Given the description of an element on the screen output the (x, y) to click on. 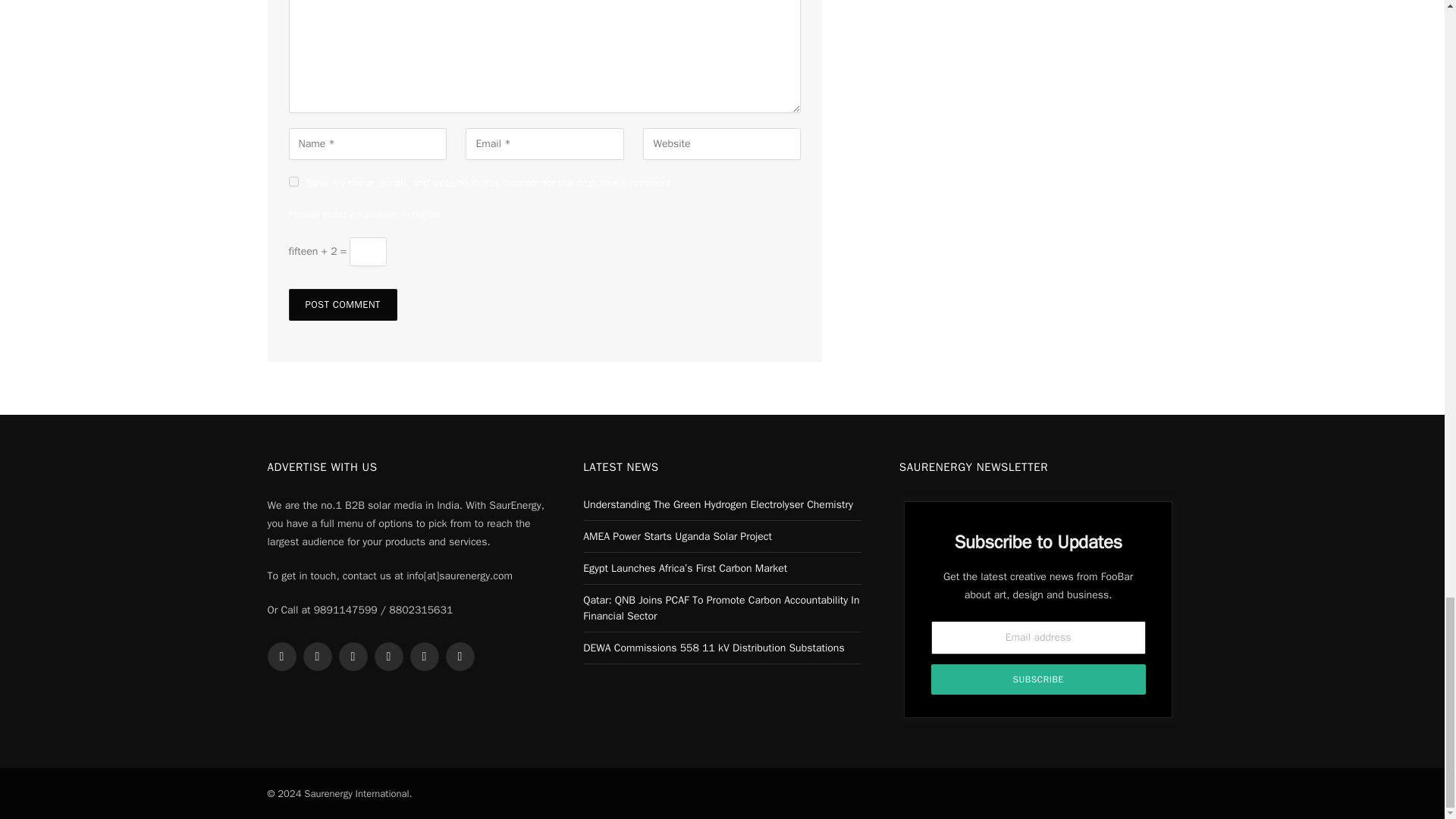
yes (293, 181)
Post Comment (342, 305)
Subscribe (1038, 679)
